Given the description of an element on the screen output the (x, y) to click on. 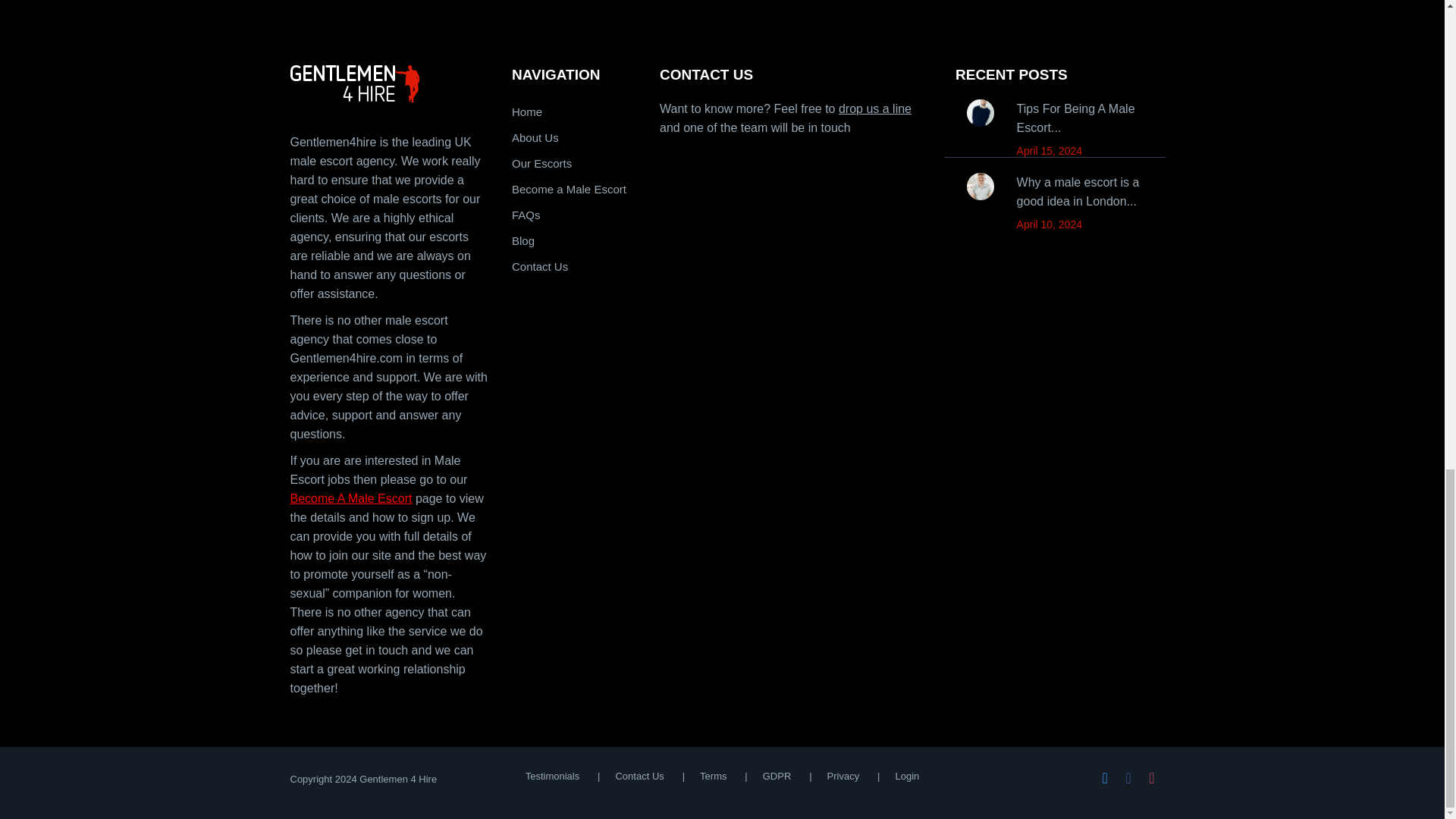
Gentlemen 4 Hire (389, 83)
